Given the description of an element on the screen output the (x, y) to click on. 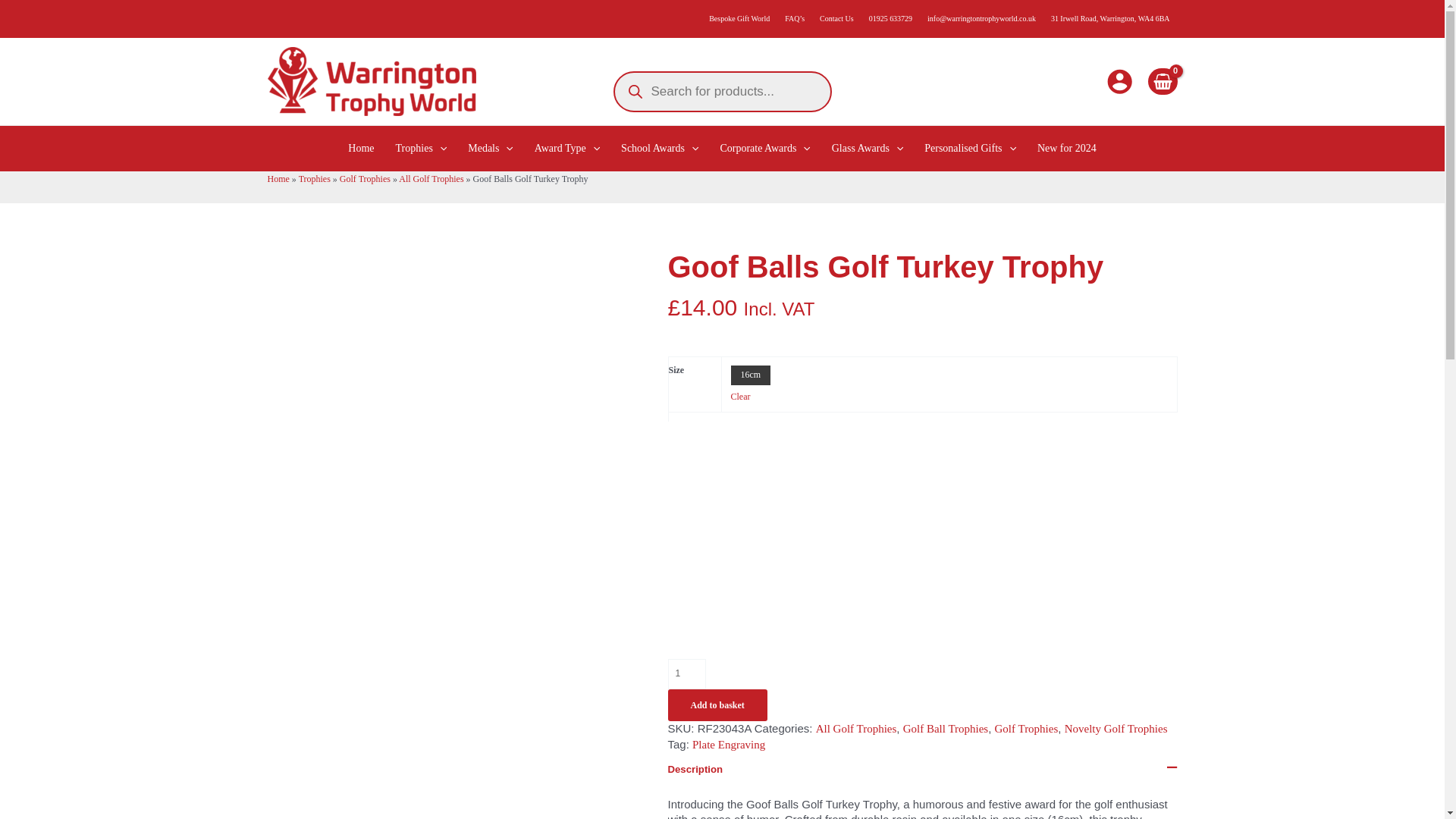
Bespoke Gift World (739, 18)
Contact Us (836, 18)
Trophies (421, 148)
01925 633729 (890, 18)
1 (685, 674)
Home (360, 148)
31 Irwell Road, Warrington, WA4 6BA (1110, 18)
